Given the description of an element on the screen output the (x, y) to click on. 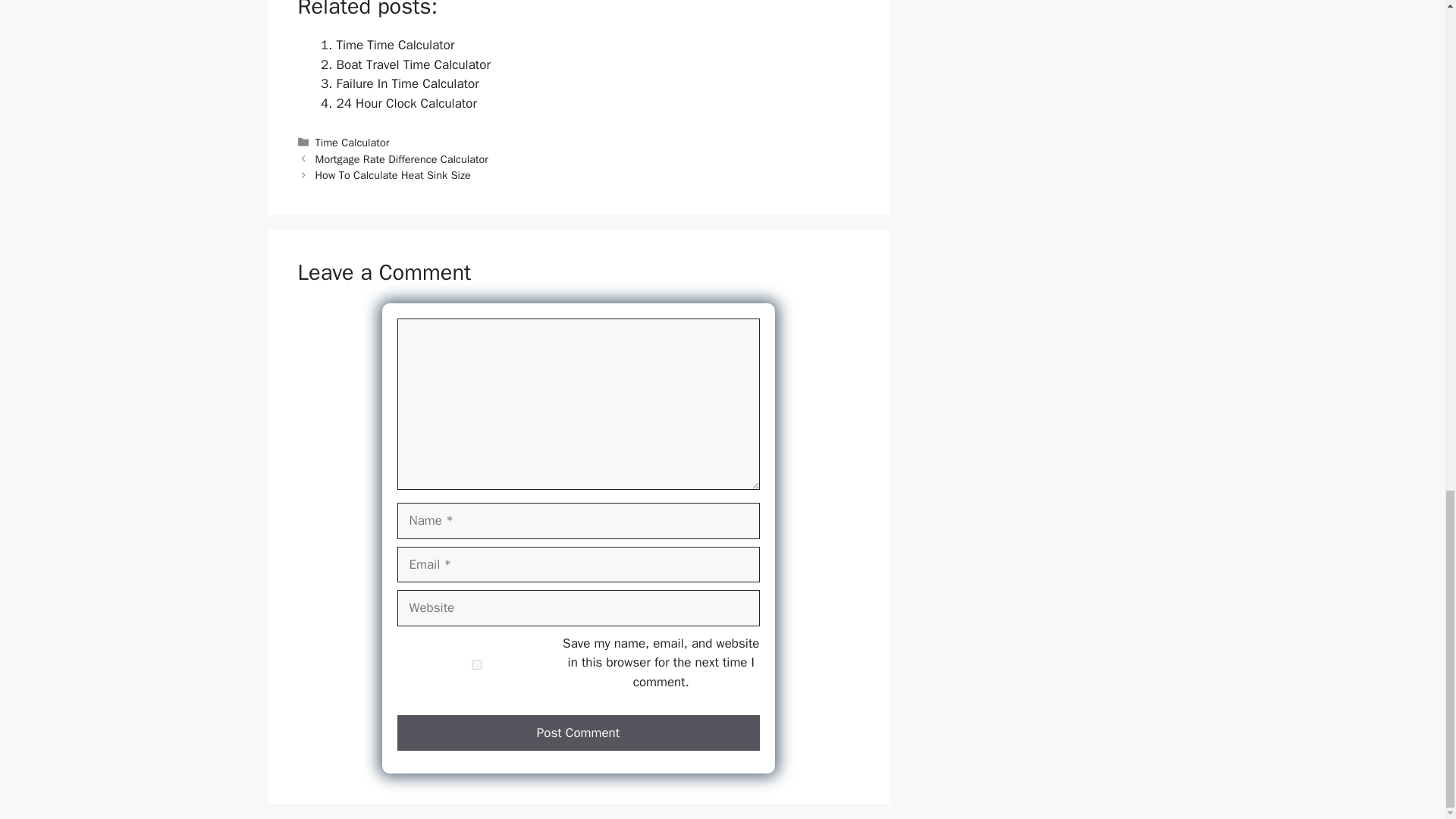
24 Hour Clock Calculator (406, 103)
Time Time Calculator (395, 44)
Post Comment (578, 732)
Failure In Time Calculator (407, 83)
Boat Travel Time Calculator (413, 64)
yes (476, 664)
Boat Travel Time Calculator (413, 64)
How To Calculate Heat Sink Size (392, 174)
24 Hour Clock Calculator (406, 103)
Mortgage Rate Difference Calculator (401, 159)
Time Time Calculator (395, 44)
Post Comment (578, 732)
Failure In Time Calculator (407, 83)
Time Calculator (352, 142)
